Given the description of an element on the screen output the (x, y) to click on. 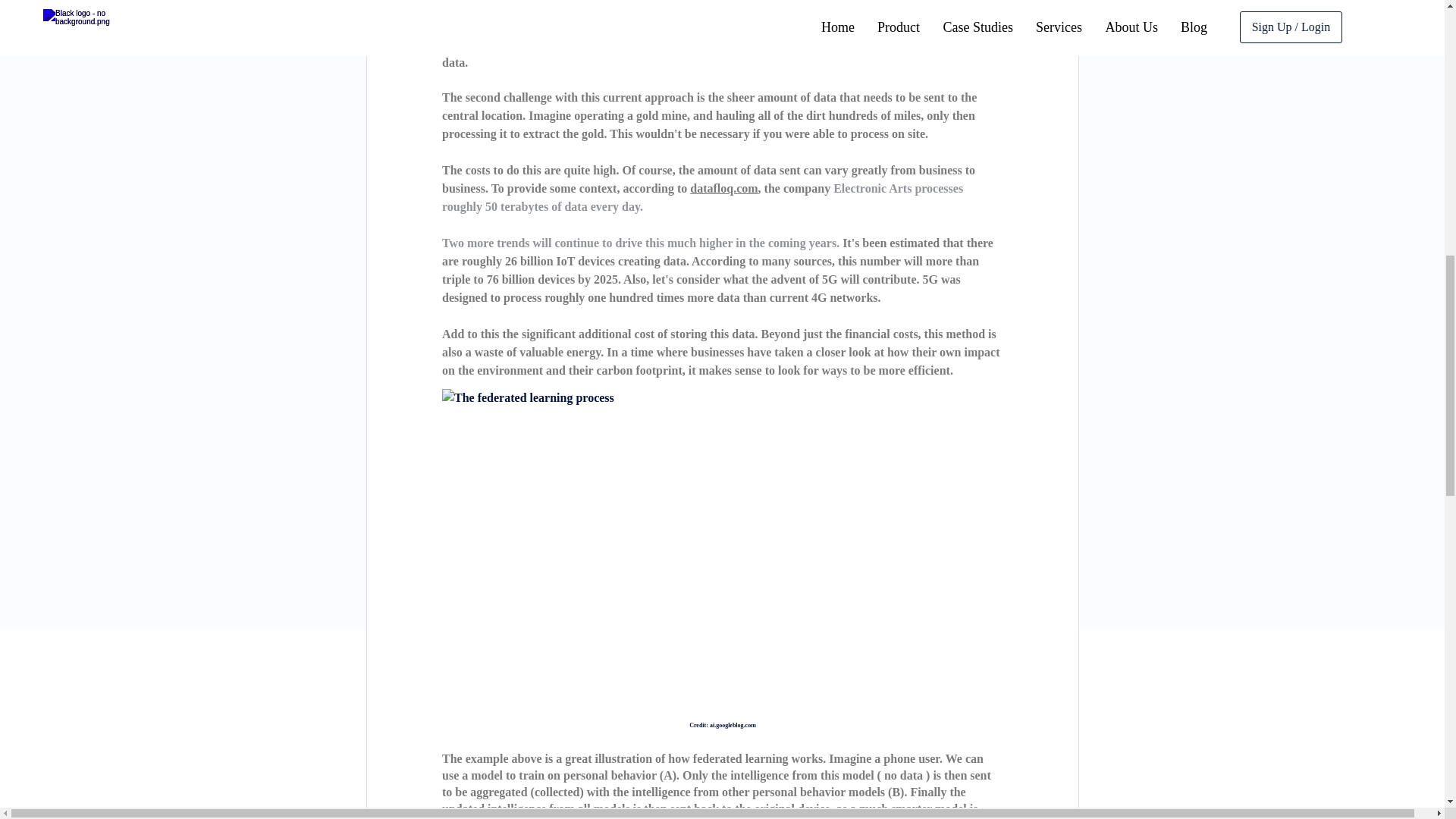
datafloq.com (723, 187)
